Given the description of an element on the screen output the (x, y) to click on. 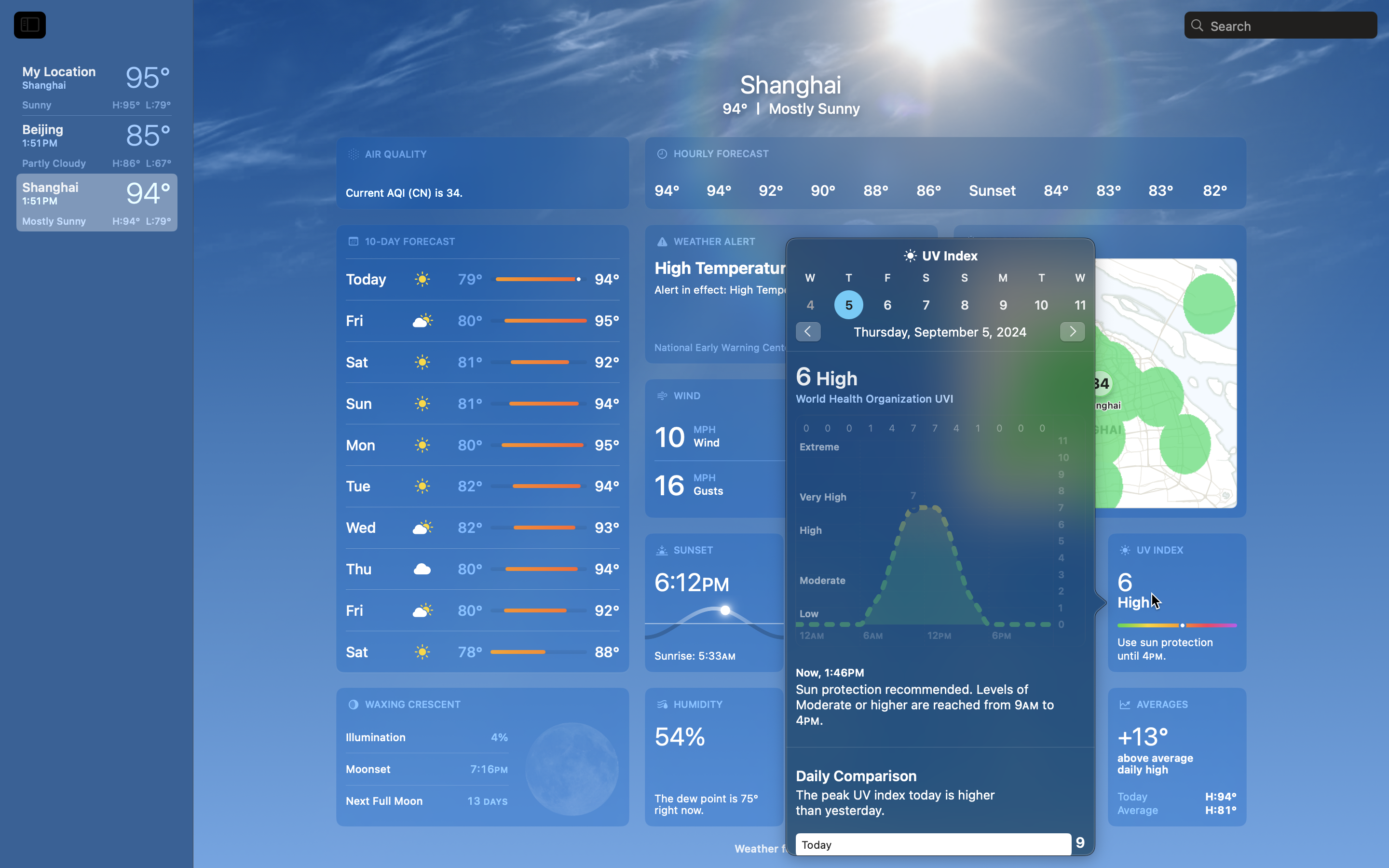
nan Element type: AXSlider (940, 295)
